Given the description of an element on the screen output the (x, y) to click on. 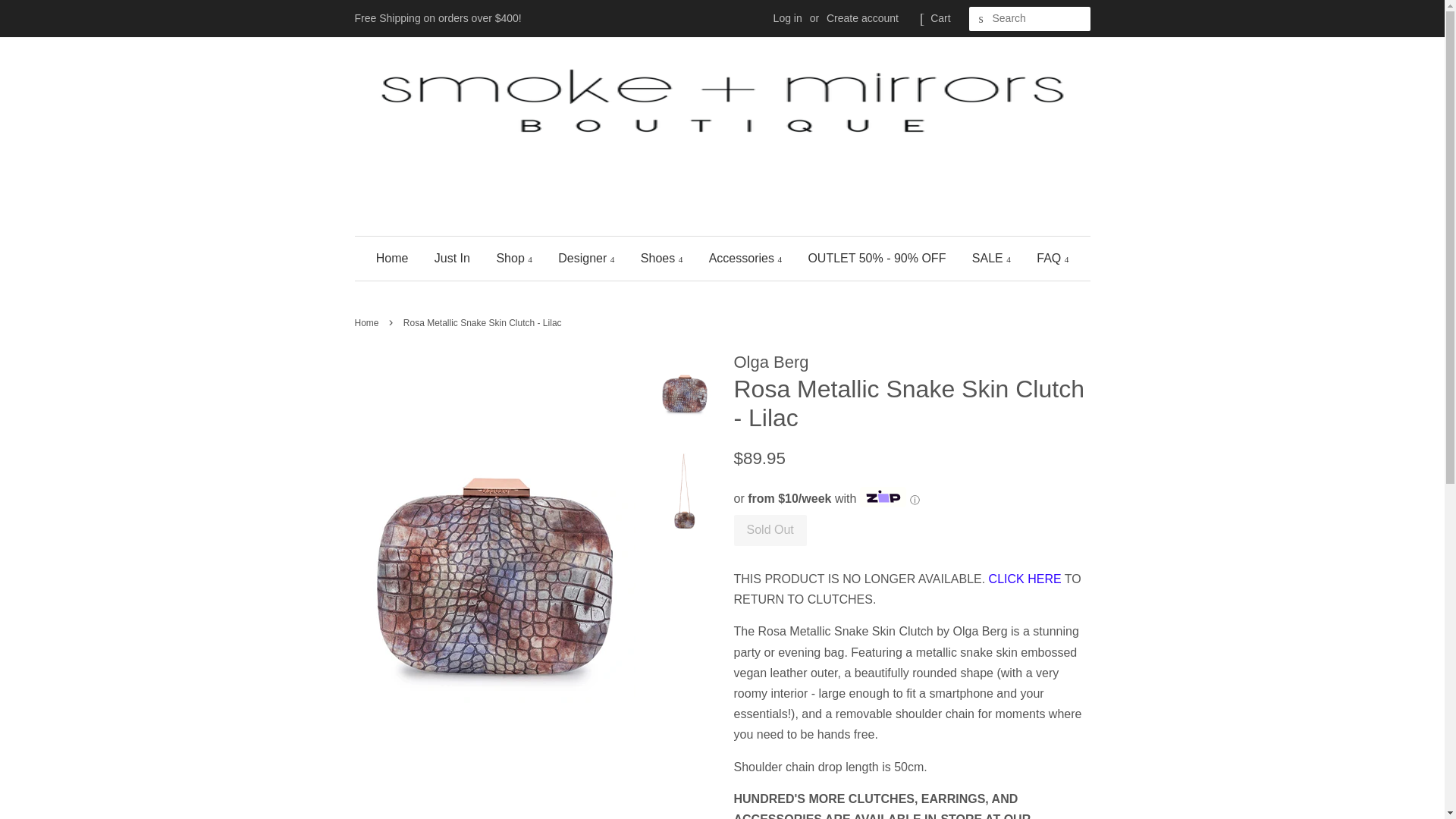
Log in (787, 18)
Cart (940, 18)
Create account (862, 18)
Back to the frontpage (368, 322)
Search (980, 18)
